Given the description of an element on the screen output the (x, y) to click on. 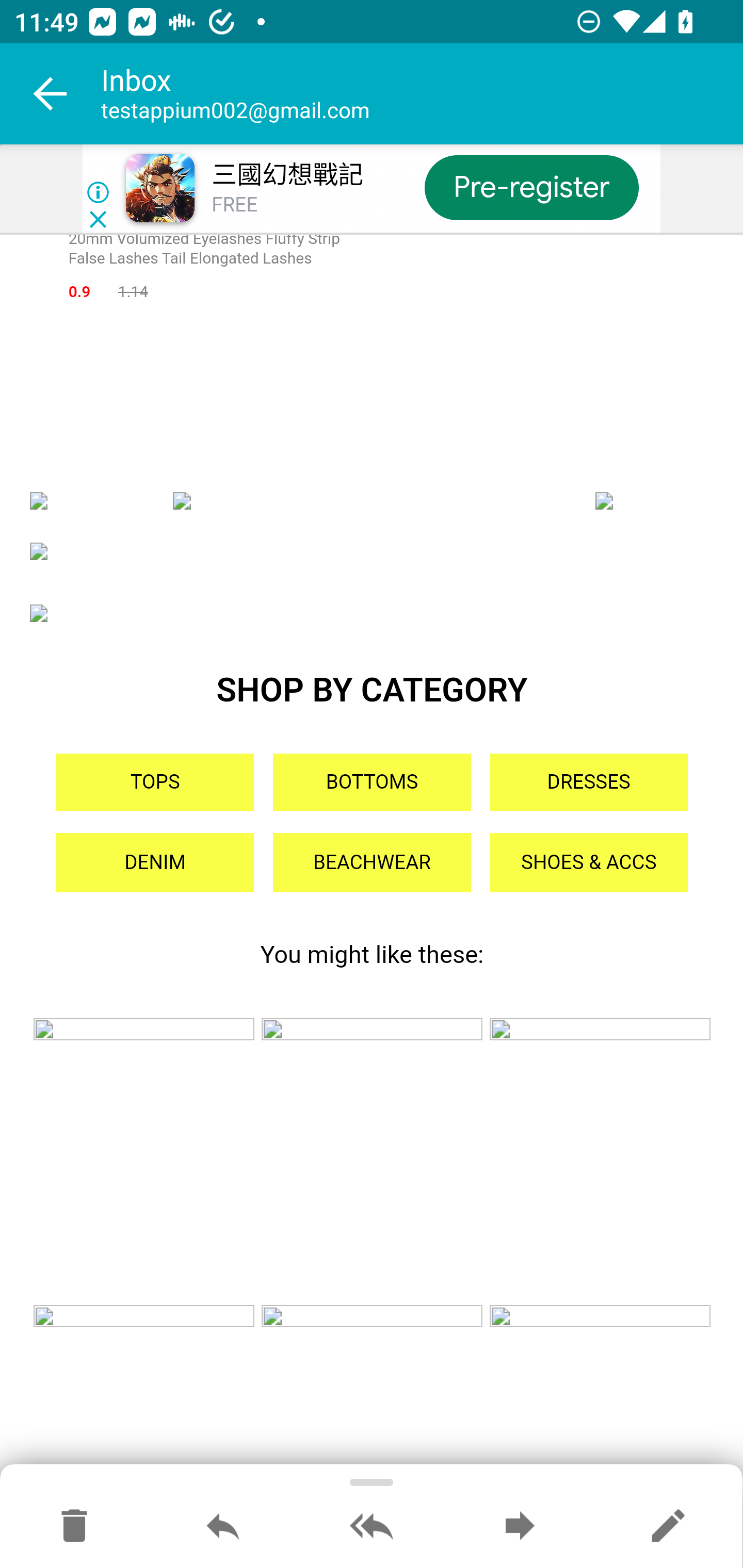
Navigate up (50, 93)
Inbox testappium002@gmail.com (422, 93)
Pre-register (530, 187)
三國幻想戰記 (287, 175)
0.9 (79, 292)
SHEIN-Premium (88, 500)
beauty (371, 500)
Cuccoo (653, 500)
Shop Now (371, 552)
Flash sale (371, 614)
TOPS (155, 782)
BOTTOMS (372, 782)
DRESSES (588, 782)
DENIM (154, 861)
BEACHWEAR (371, 861)
SHOES & ACCS (588, 861)
data: (143, 1162)
data: (371, 1162)
data: (599, 1162)
data: (143, 1388)
data: (371, 1388)
data: (599, 1388)
Move to Deleted (74, 1527)
Reply (222, 1527)
Reply all (371, 1527)
Forward (519, 1527)
Reply as new (667, 1527)
